Given the description of an element on the screen output the (x, y) to click on. 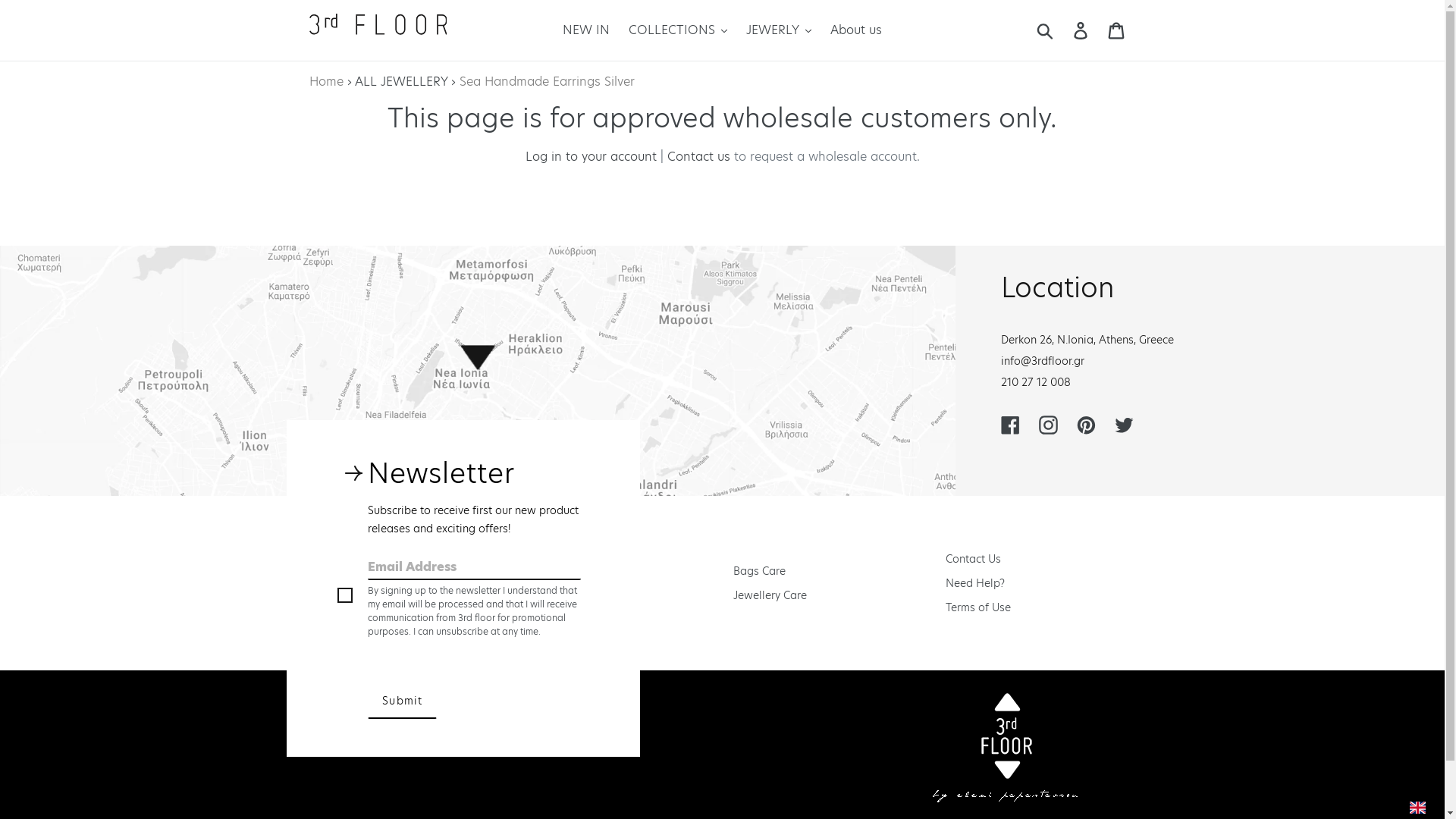
Contact Us Element type: text (973, 557)
Home Element type: text (326, 81)
Log in to your account Element type: text (589, 155)
ALL JEWELLERY Element type: text (400, 81)
Jewellery Care Element type: text (769, 594)
3rd Floor Twitter link Element type: hover (1123, 424)
Need Help? Element type: text (974, 581)
Bags Care Element type: text (759, 569)
Terms of Use Element type: text (977, 606)
3rd Floor Instagram link Element type: hover (1047, 424)
3rd Floor Facebook link Element type: hover (1010, 424)
3rd Floor Pinterest link Element type: hover (1085, 424)
About us Element type: text (855, 29)
GROUP 7 CREATED WITH SKETCH. Element type: text (378, 27)
Contact us Element type: text (698, 155)
Submit Element type: text (401, 701)
NEW IN Element type: text (586, 29)
